Given the description of an element on the screen output the (x, y) to click on. 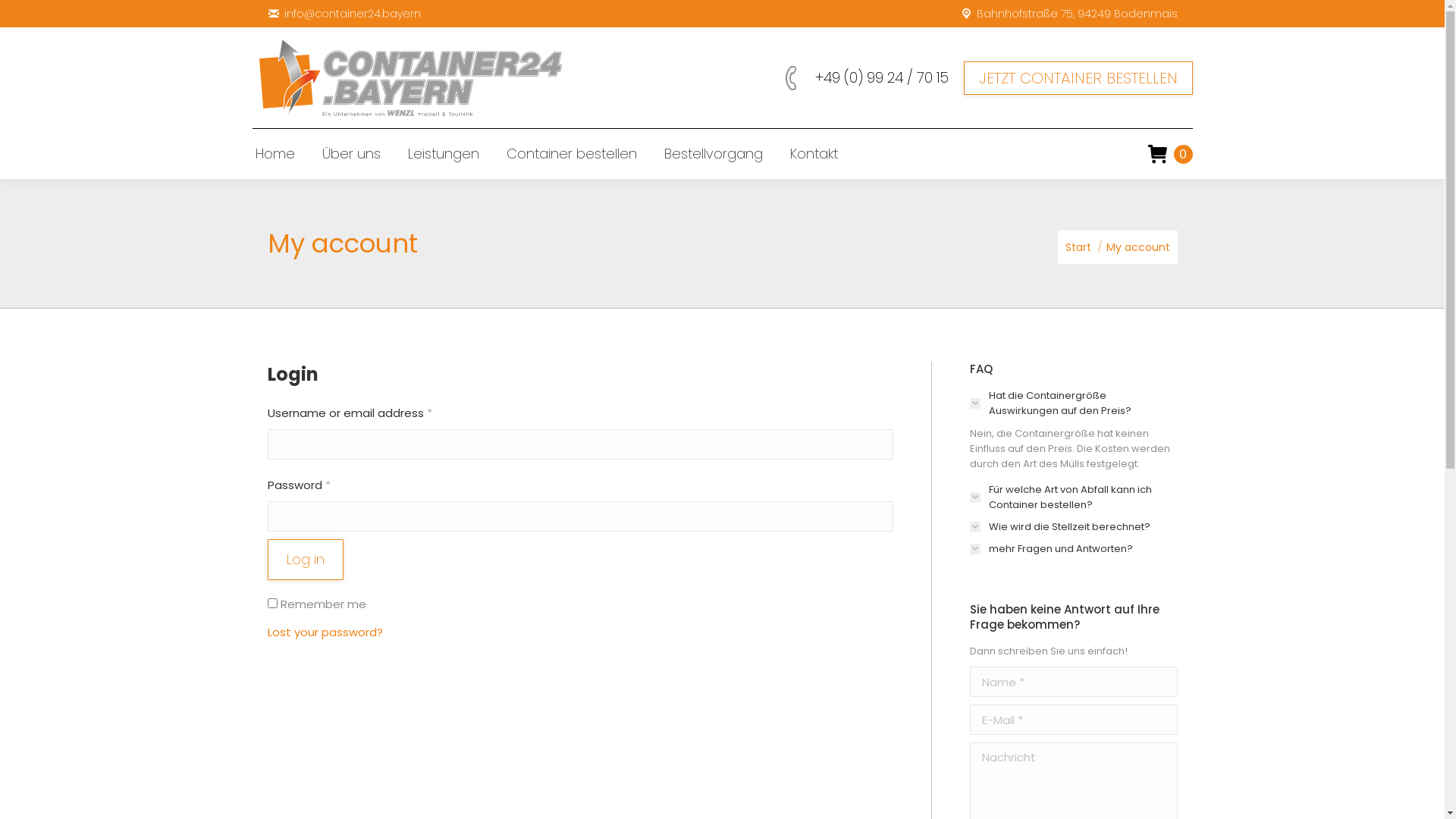
Start Element type: text (1077, 246)
Kontakt Element type: text (813, 153)
Home Element type: text (274, 153)
+49 (0) 99 24 / 70 15 Element type: text (861, 77)
mehr Fragen und Antworten? Element type: text (1050, 548)
Wie wird die Stellzeit berechnet? Element type: text (1059, 526)
Leistungen Element type: text (443, 153)
Bestellvorgang Element type: text (713, 153)
info@container24.bayern Element type: text (343, 13)
Log in Element type: text (304, 559)
 0 Element type: text (1170, 153)
Lost your password? Element type: text (324, 632)
JETZT CONTAINER BESTELLEN Element type: text (1077, 77)
Container bestellen Element type: text (571, 153)
